Given the description of an element on the screen output the (x, y) to click on. 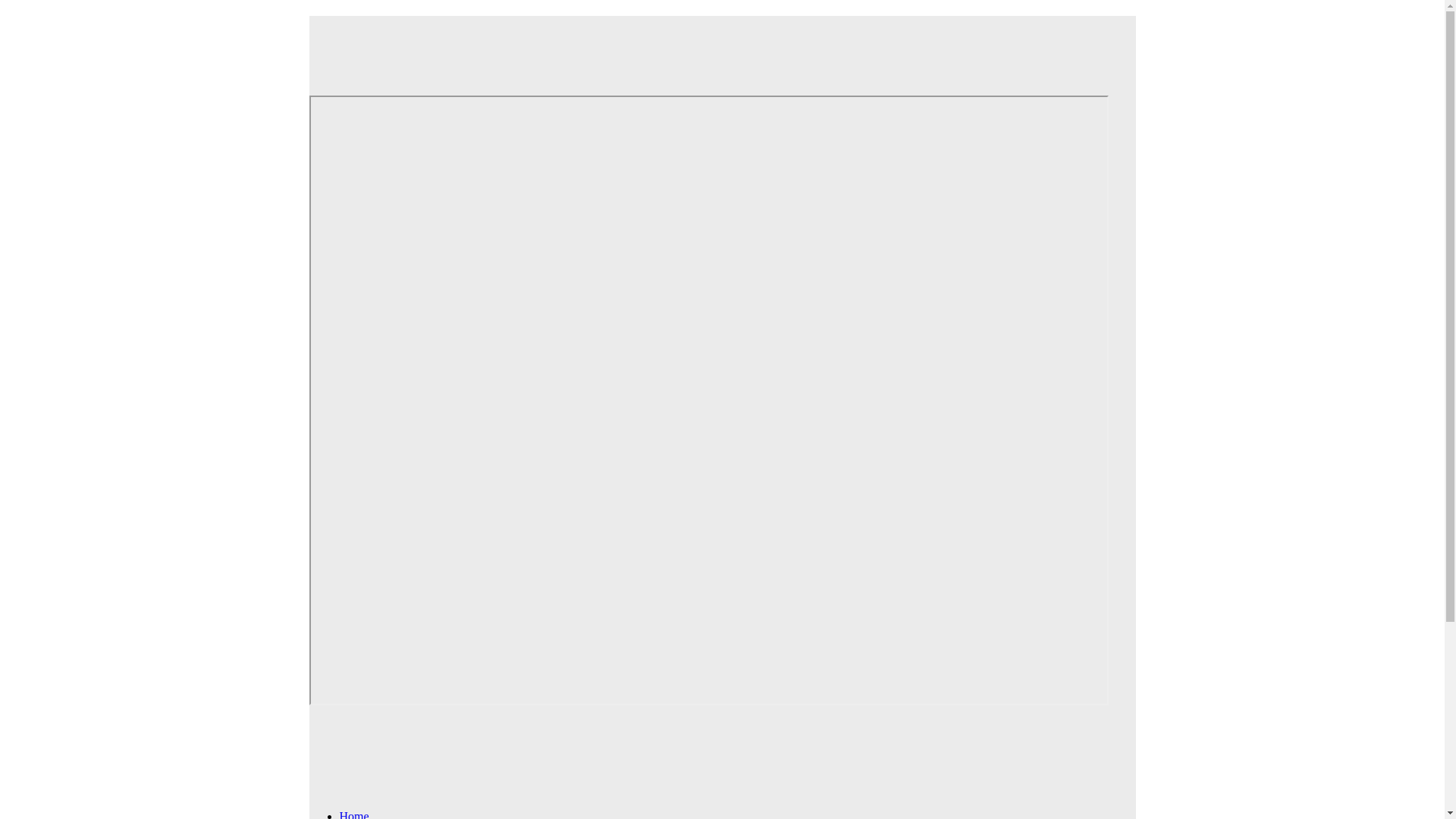
Web Hosting from Just Host Element type: text (707, 44)
